Given the description of an element on the screen output the (x, y) to click on. 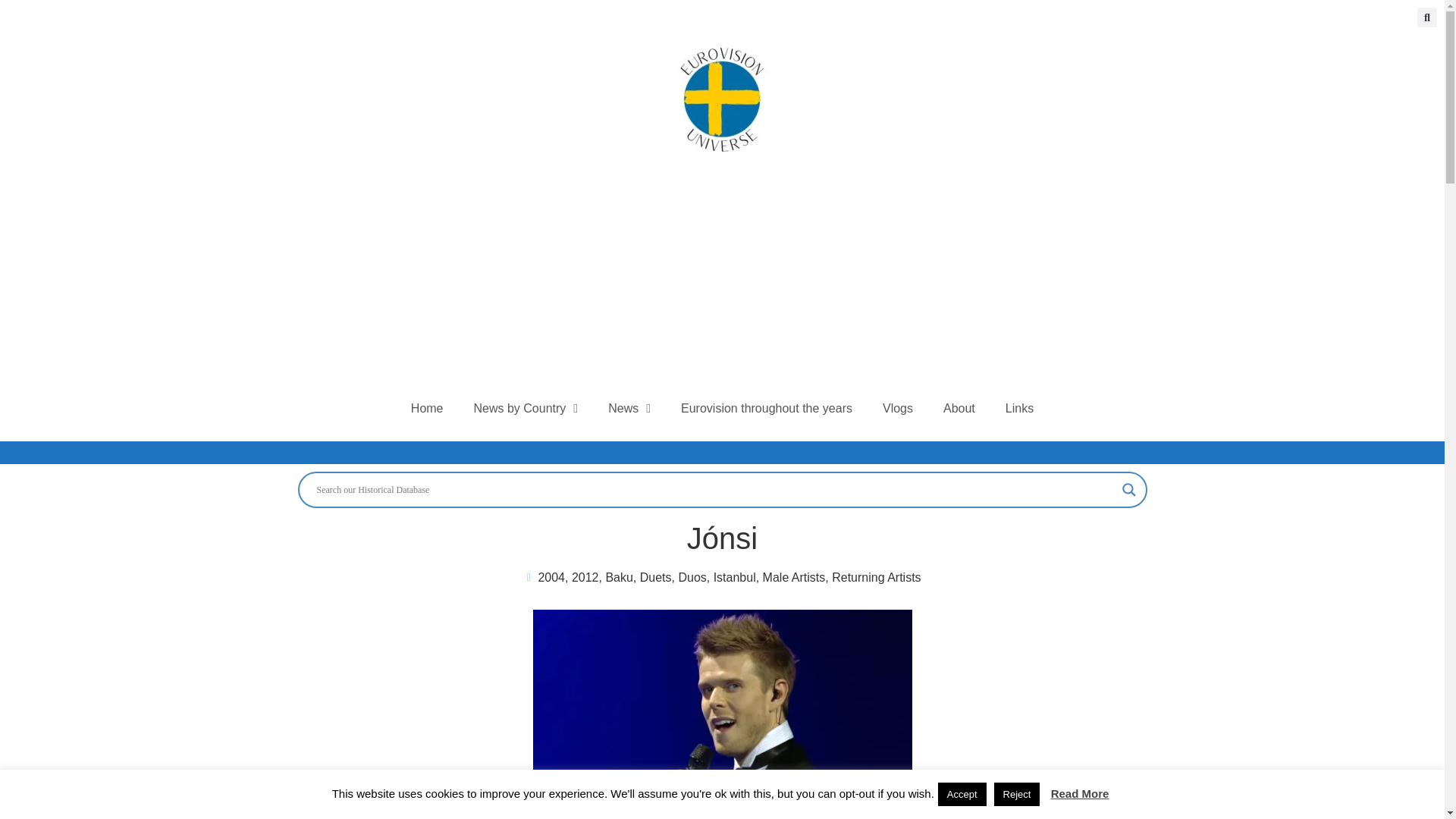
Home (427, 408)
News by Country (526, 408)
